Given the description of an element on the screen output the (x, y) to click on. 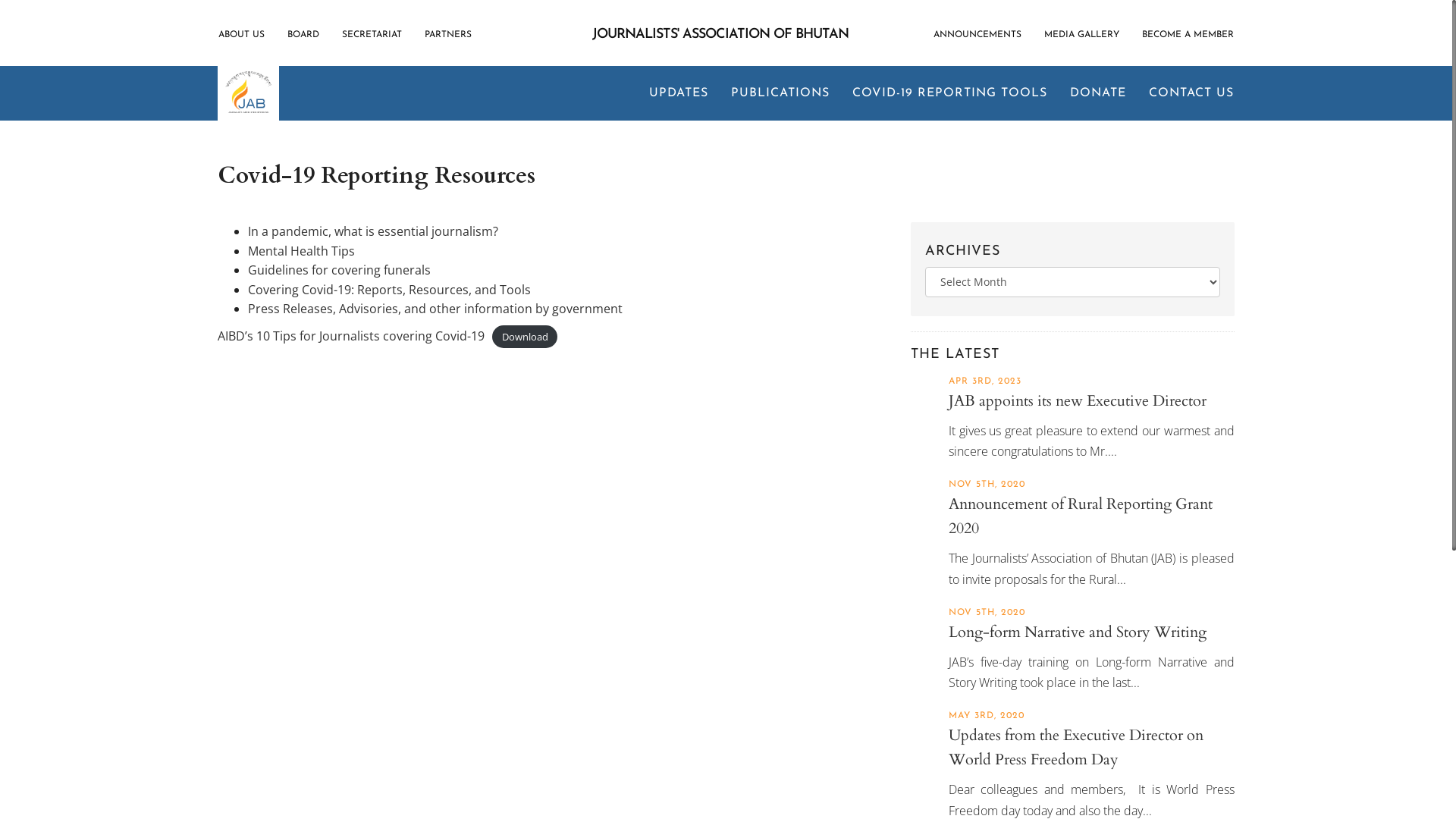
COVID-19 REPORTING TOOLS Element type: text (949, 93)
CONTACT US Element type: text (1185, 93)
PUBLICATIONS Element type: text (779, 93)
ANNOUNCEMENTS Element type: text (982, 34)
UPDATES Element type: text (678, 93)
Guidelines for covering funerals Element type: text (338, 269)
MEDIA GALLERY Element type: text (1081, 34)
Announcement of Rural Reporting Grant 2020 Element type: text (1080, 515)
BOARD Element type: text (303, 34)
DONATE Element type: text (1097, 93)
Mental Health Tips Element type: text (300, 250)
Long-form Narrative and Story Writing Element type: text (1077, 631)
PARTNERS Element type: text (448, 34)
ABOUT US Element type: text (247, 34)
JAB appoints its new Executive Director Element type: text (1077, 400)
Download Element type: text (525, 336)
In a pandemic, what is essential journalism? Element type: text (372, 230)
Covering Covid-19: Reports, Resources, and Tools Element type: text (388, 289)
SECRETARIAT Element type: text (371, 34)
JOURNALISTS' ASSOCIATION OF BHUTAN Element type: text (720, 34)
BECOME A MEMBER Element type: text (1187, 34)
